Given the description of an element on the screen output the (x, y) to click on. 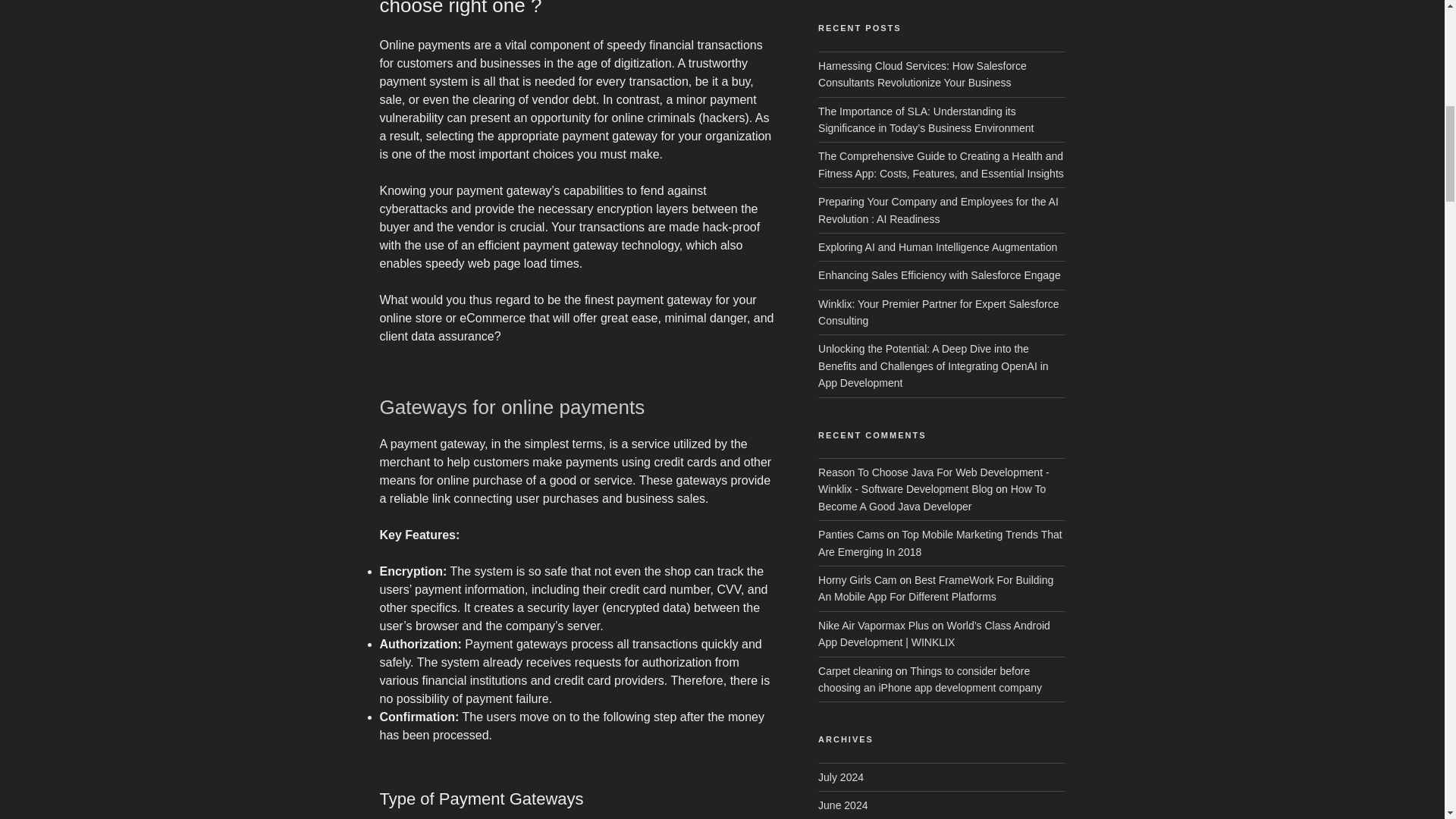
Enhancing Sales Efficiency with Salesforce Engage (939, 275)
Exploring AI and Human Intelligence Augmentation (937, 246)
Carpet cleaning (855, 671)
Horny Girls Cam (857, 580)
Top Mobile Marketing Trends That Are Emerging In 2018 (940, 542)
June 2024 (842, 805)
Nike Air Vapormax Plus (873, 625)
How To Become A Good Java Developer (931, 497)
Panties Cams (850, 534)
